Given the description of an element on the screen output the (x, y) to click on. 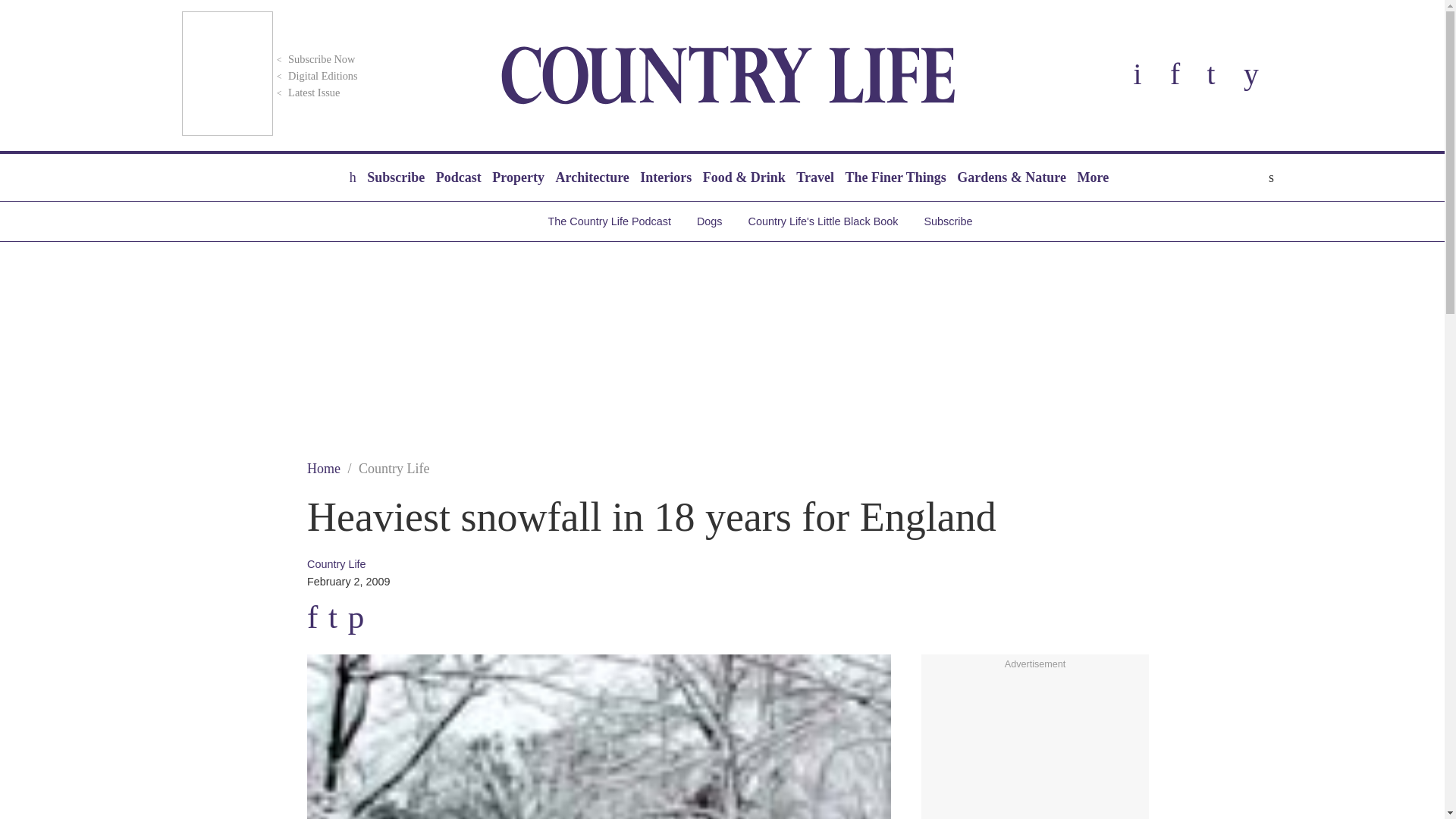
Digital Editions (315, 75)
Travel (815, 176)
Architecture (592, 176)
Property (517, 176)
Podcast (458, 176)
Latest Issue (306, 92)
Subscribe (395, 176)
Interiors (665, 176)
The Finer Things (895, 176)
Subscribe Now (314, 59)
